Given the description of an element on the screen output the (x, y) to click on. 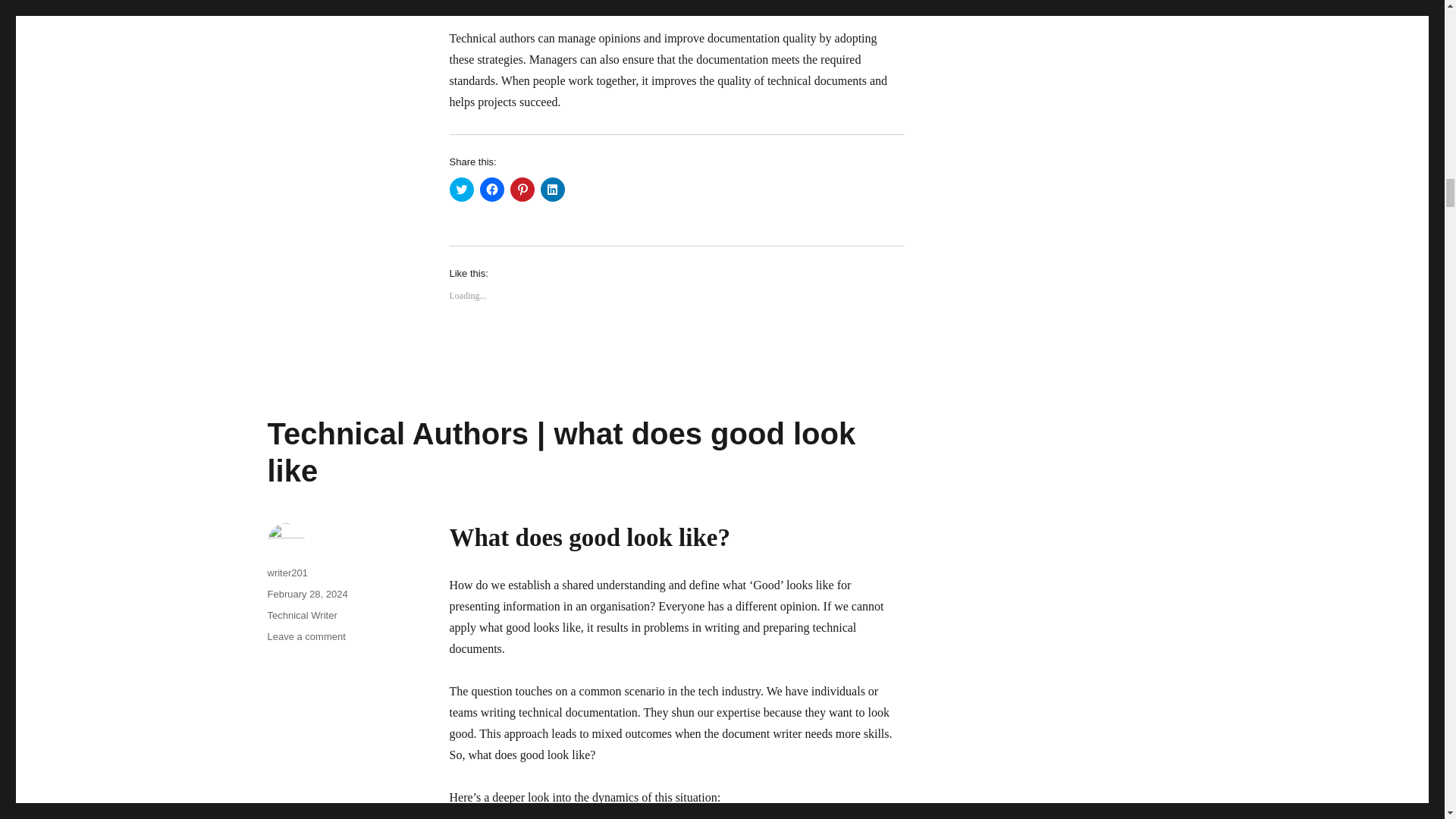
Click to share on Pinterest (521, 189)
Click to share on Facebook (491, 189)
Click to share on LinkedIn (552, 189)
Click to share on Twitter (460, 189)
